Given the description of an element on the screen output the (x, y) to click on. 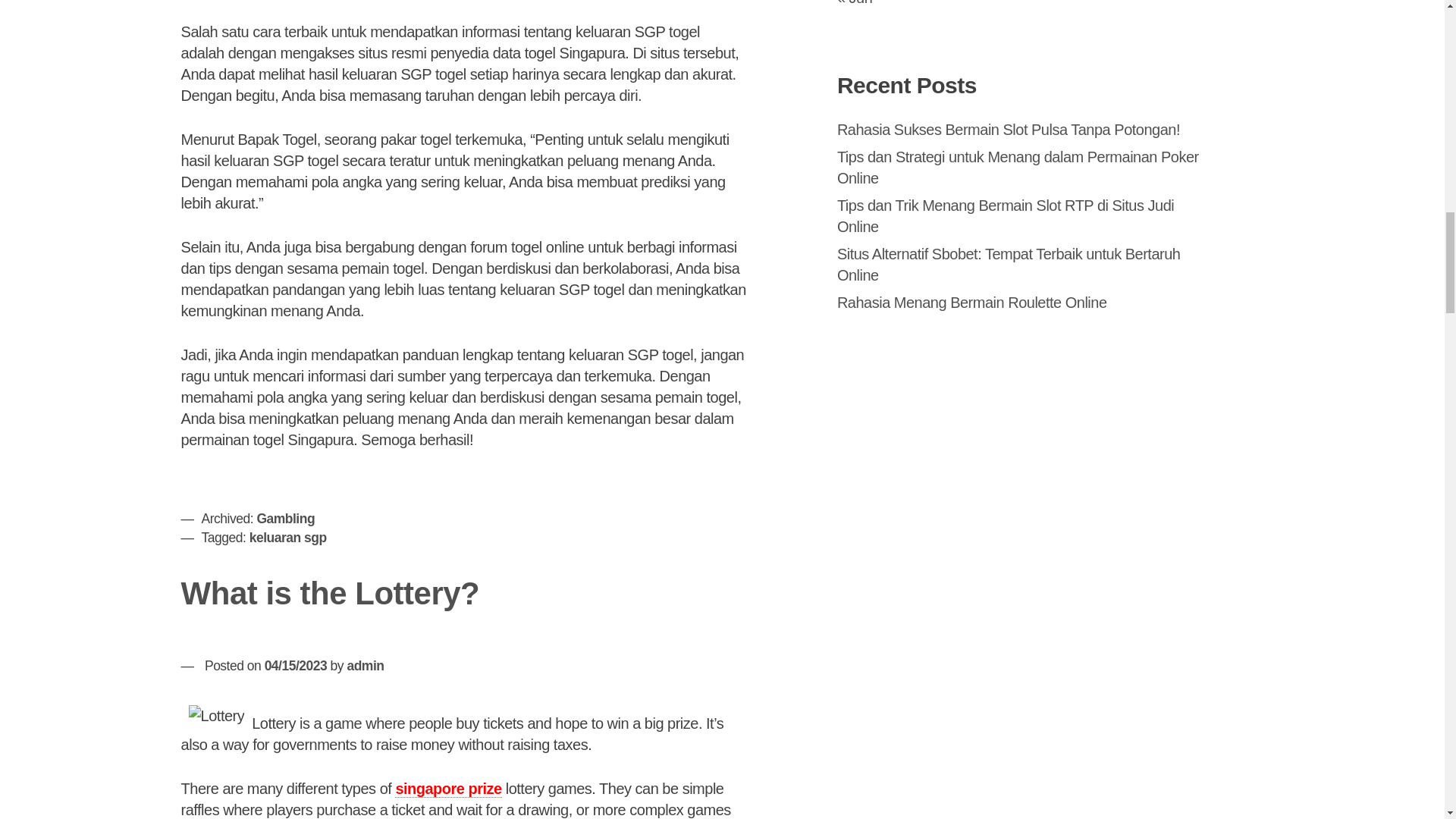
What is the Lottery? (330, 592)
admin (365, 665)
Gambling (285, 518)
keluaran sgp (287, 537)
singapore prize (447, 788)
